Given the description of an element on the screen output the (x, y) to click on. 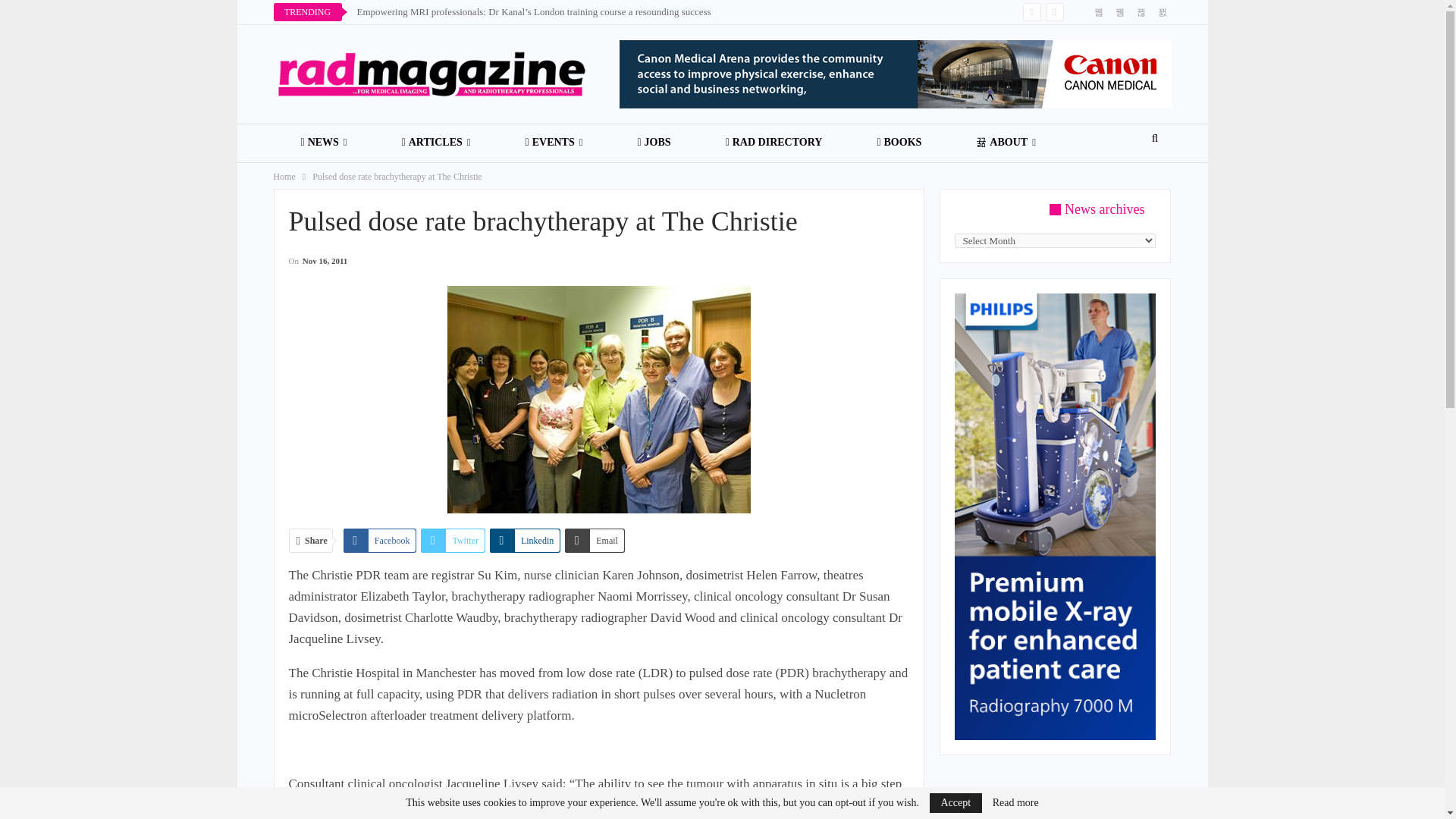
NEWS (323, 142)
EVENTS (553, 142)
JOBS (653, 142)
ARTICLES (435, 142)
RAD DIRECTORY (774, 142)
